Given the description of an element on the screen output the (x, y) to click on. 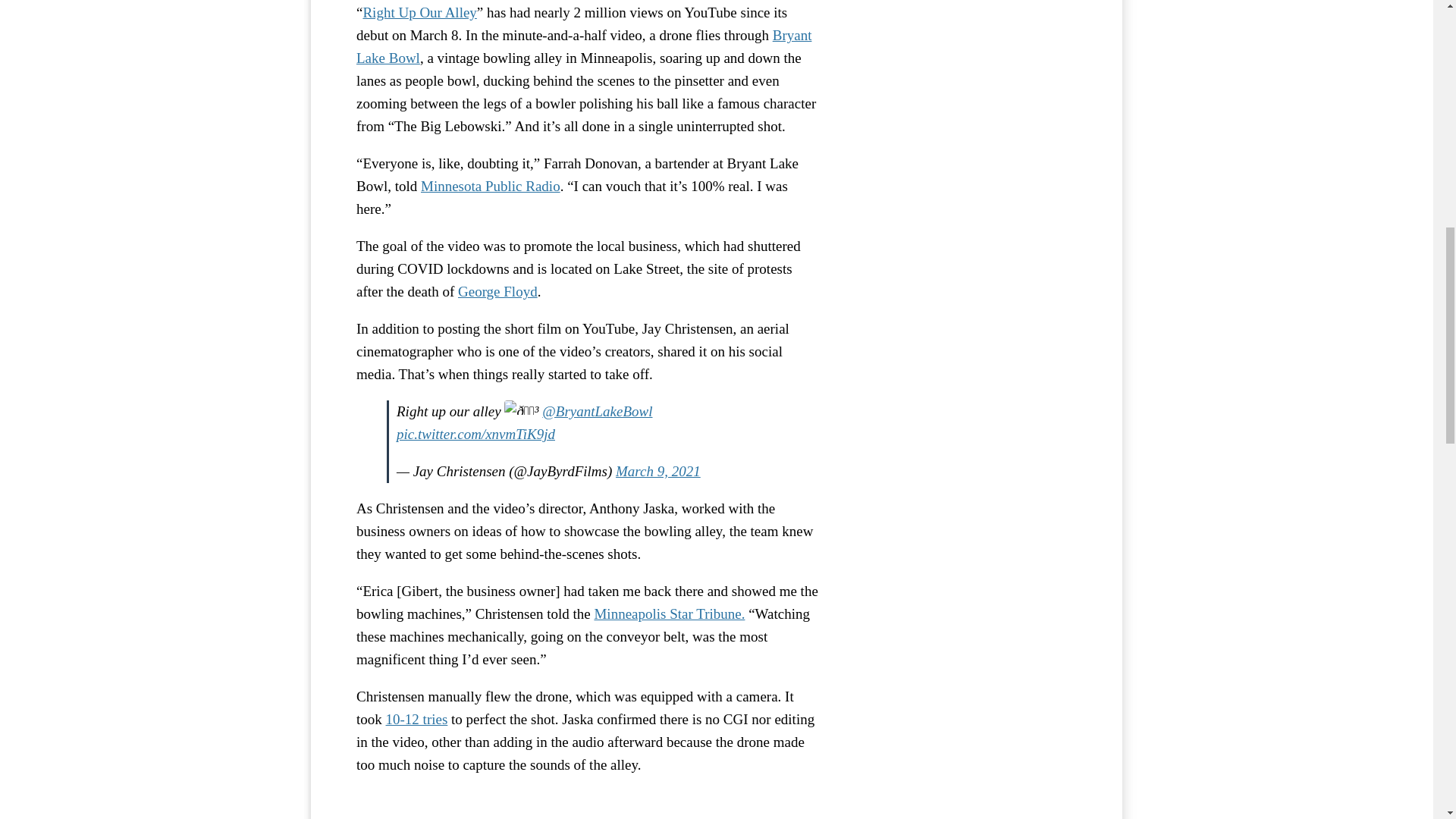
Right Up Our Alley (587, 805)
